Given the description of an element on the screen output the (x, y) to click on. 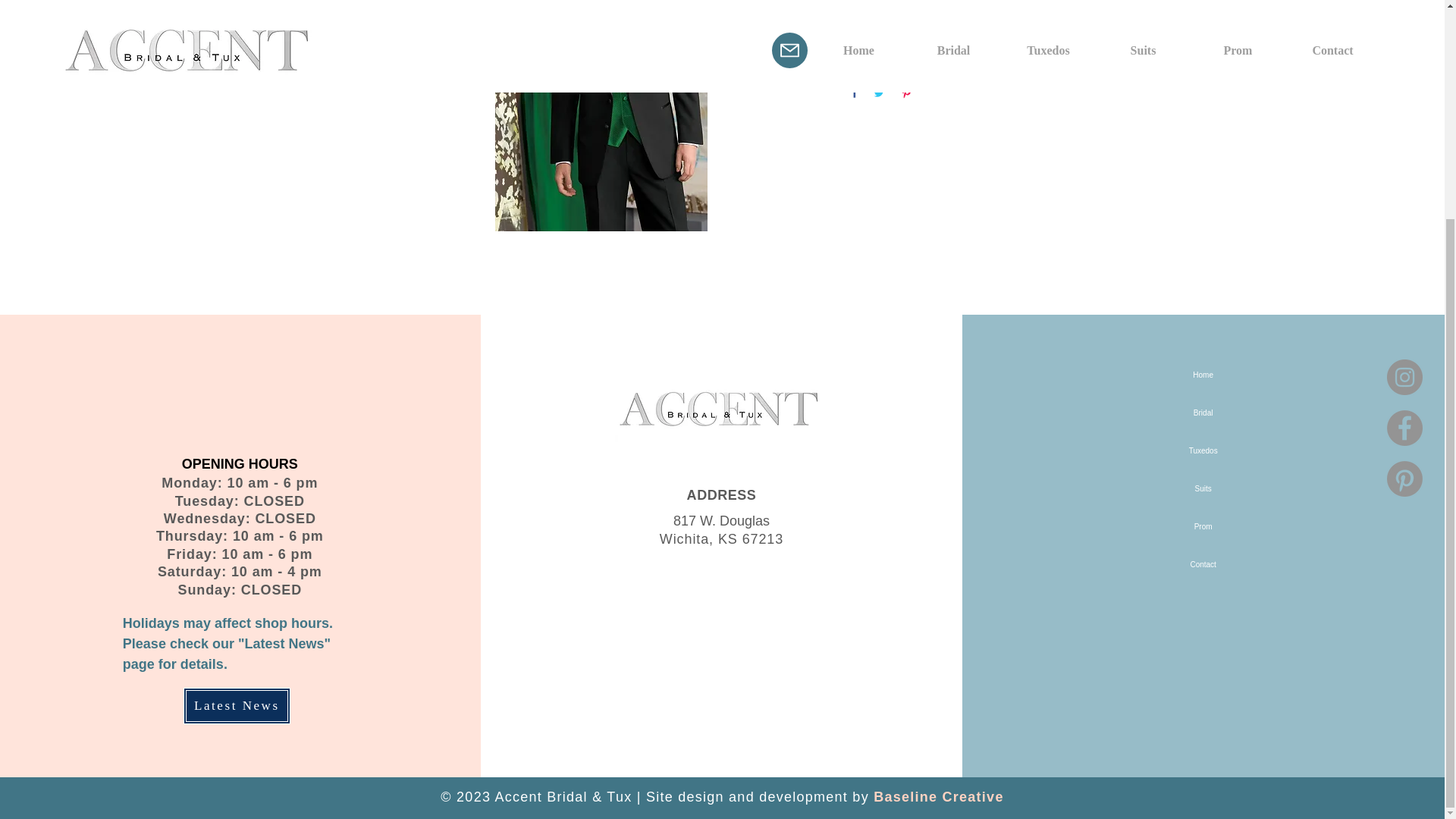
Prom (1203, 526)
Bridal (1203, 412)
Baseline Creative (938, 796)
Latest News (236, 705)
Home (1203, 374)
Contact (1203, 564)
Suits (1203, 488)
Tuxedos (1203, 451)
